Given the description of an element on the screen output the (x, y) to click on. 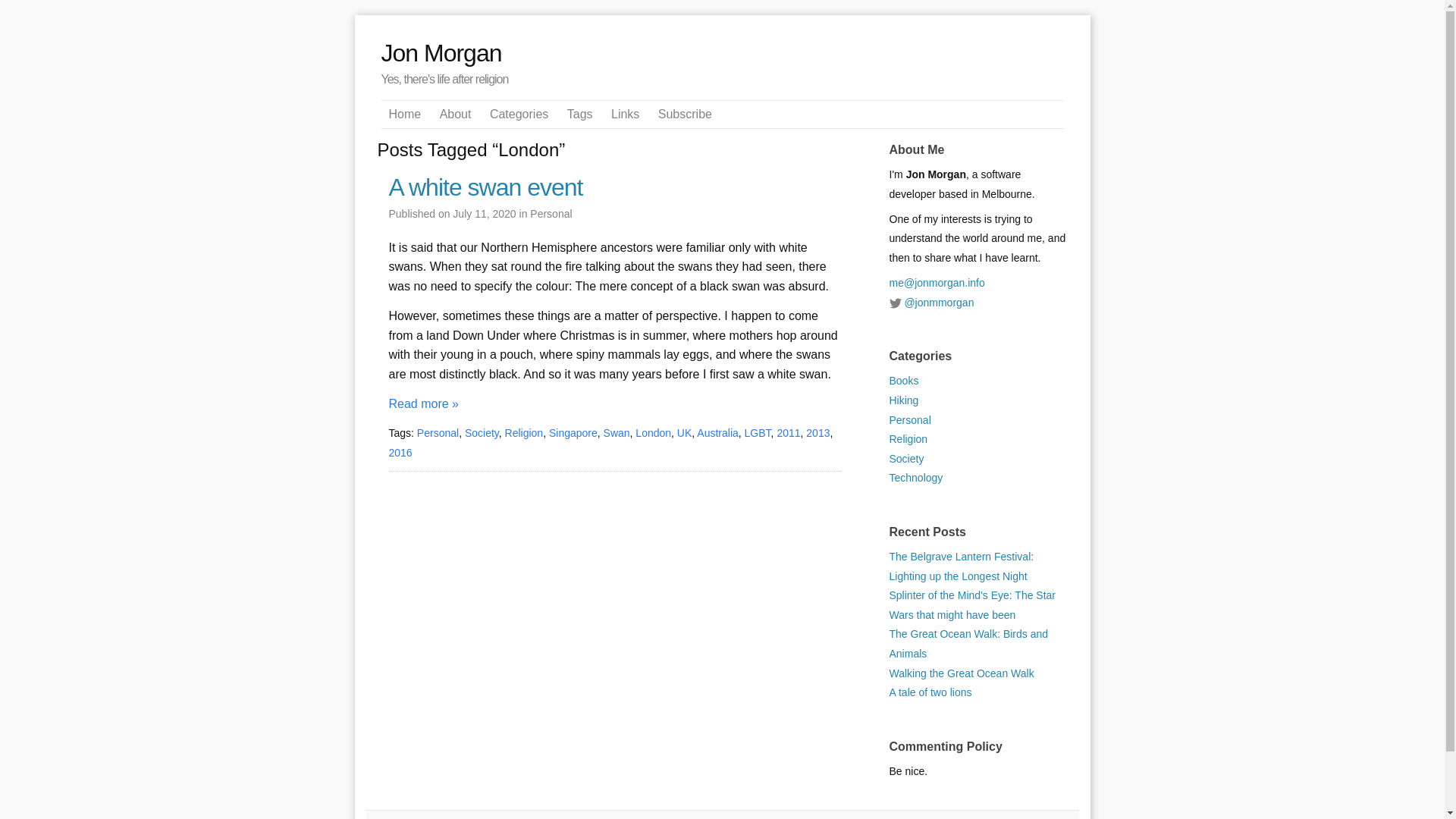
2011 (787, 432)
Personal (437, 432)
UK (684, 432)
Society (905, 458)
2011 (787, 432)
Singapore (572, 432)
UK (684, 432)
Walking the Great Ocean Walk (960, 673)
About (455, 113)
Personal (550, 214)
London (652, 432)
Religion (524, 432)
Tags (579, 113)
Swan (617, 432)
2016 (400, 452)
